Given the description of an element on the screen output the (x, y) to click on. 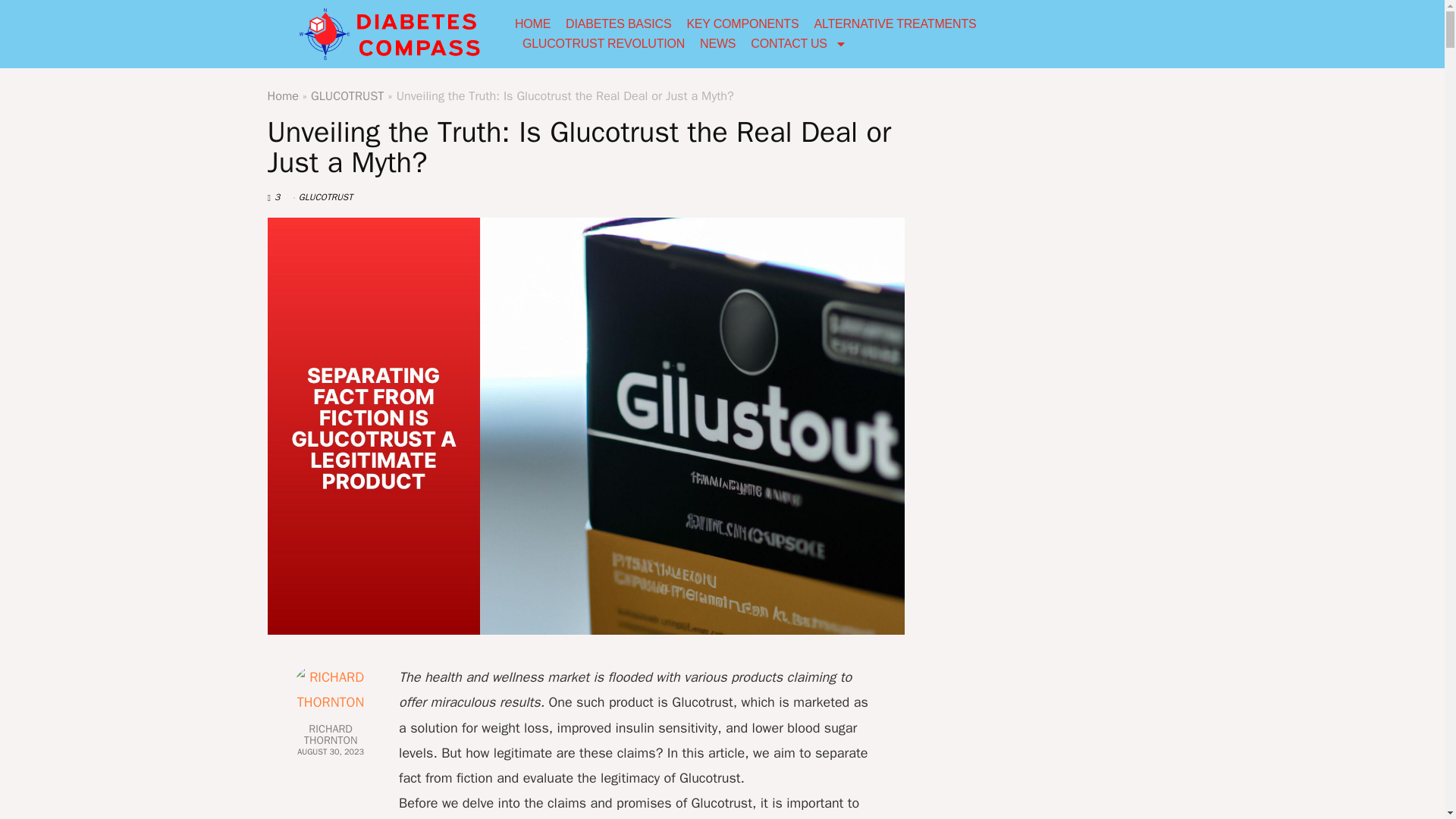
DIABETES BASICS (618, 24)
NEWS (717, 44)
ALTERNATIVE TREATMENTS (894, 24)
CONTACT US (799, 44)
HOME (532, 24)
View all posts in GLUCOTRUST (325, 196)
GLUCOTRUST REVOLUTION (603, 44)
KEY COMPONENTS (741, 24)
